Given the description of an element on the screen output the (x, y) to click on. 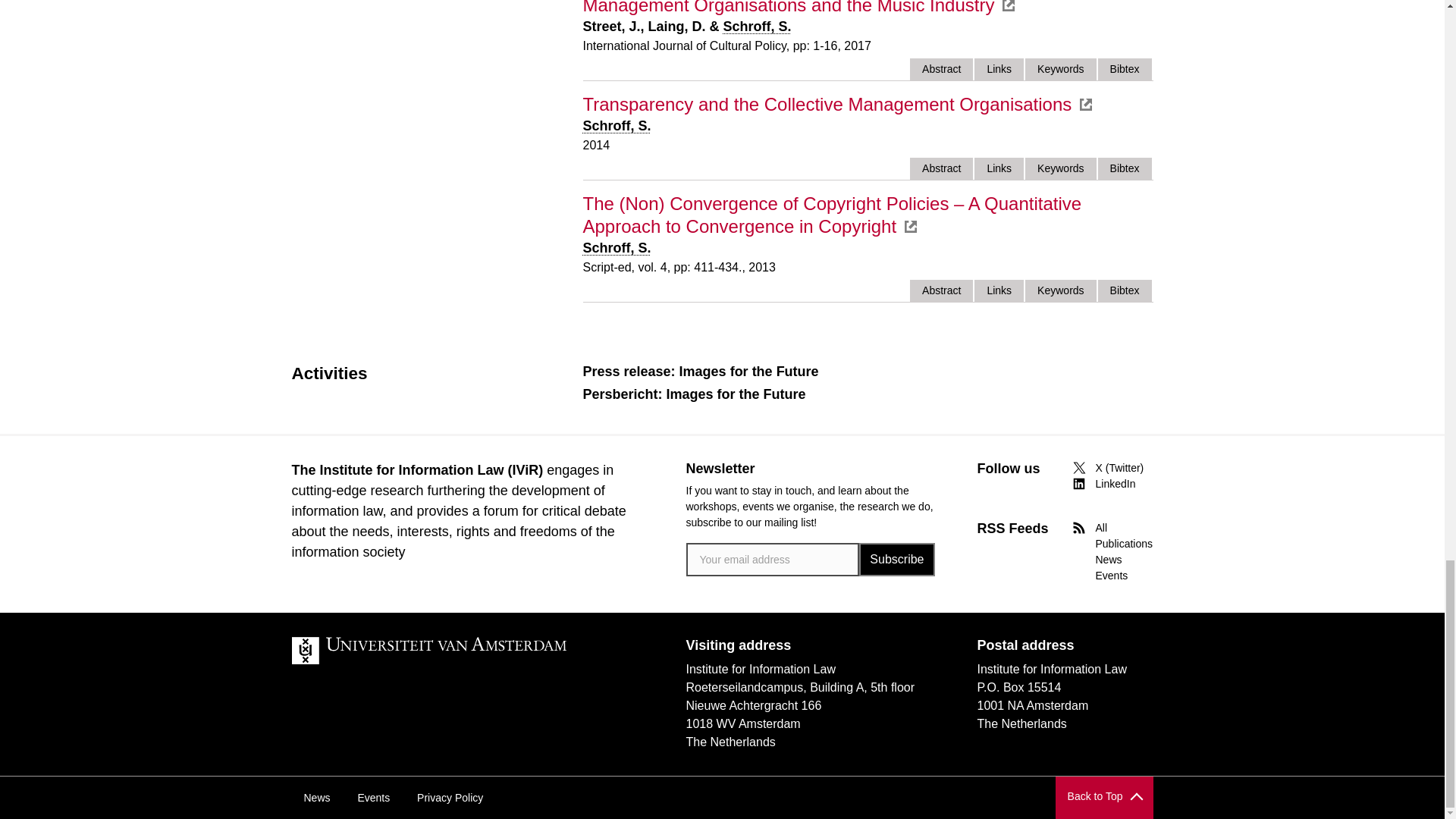
Subscribe (896, 559)
